Given the description of an element on the screen output the (x, y) to click on. 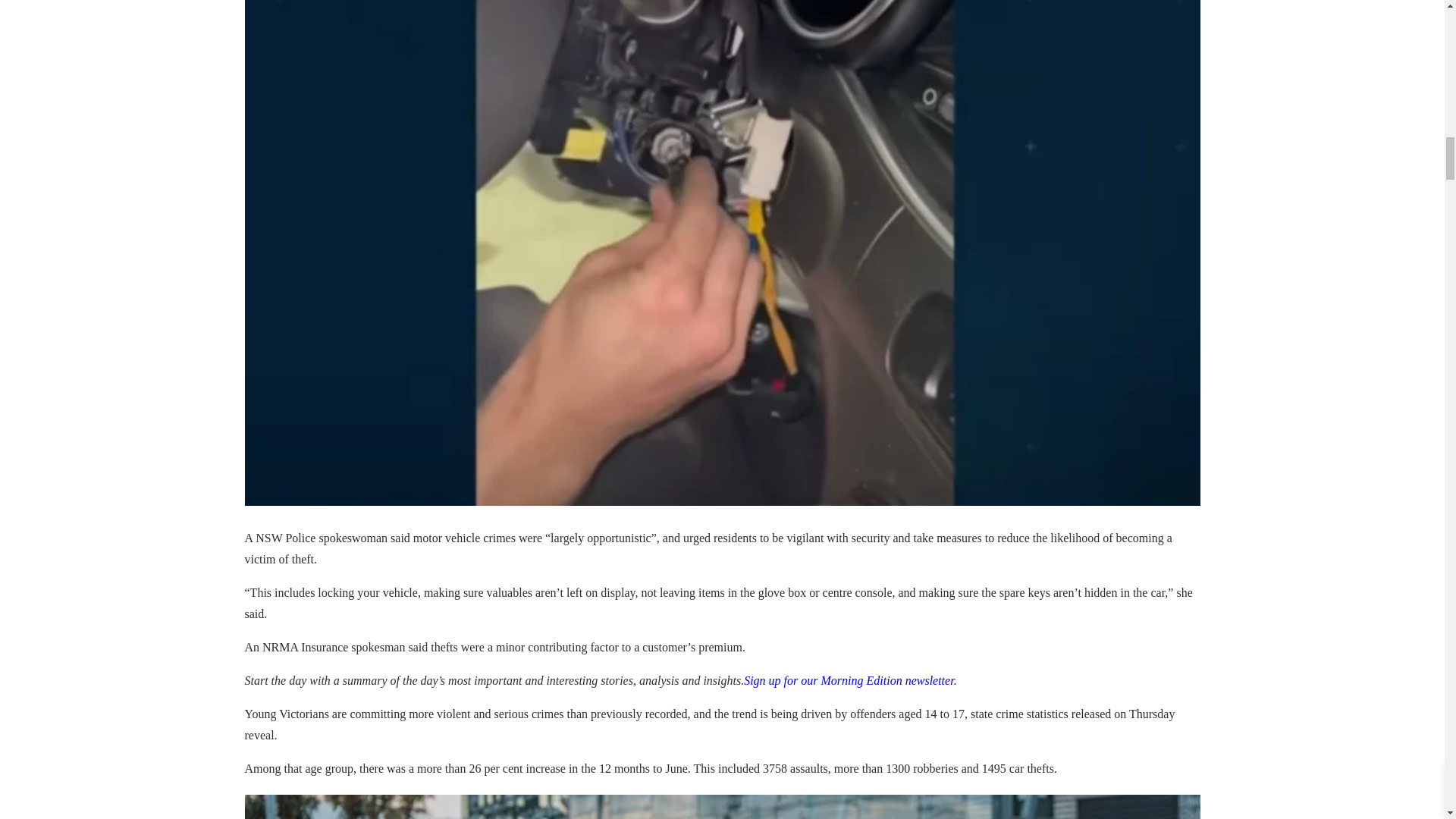
Sign up for our Morning Edition newsletter (848, 680)
